Given the description of an element on the screen output the (x, y) to click on. 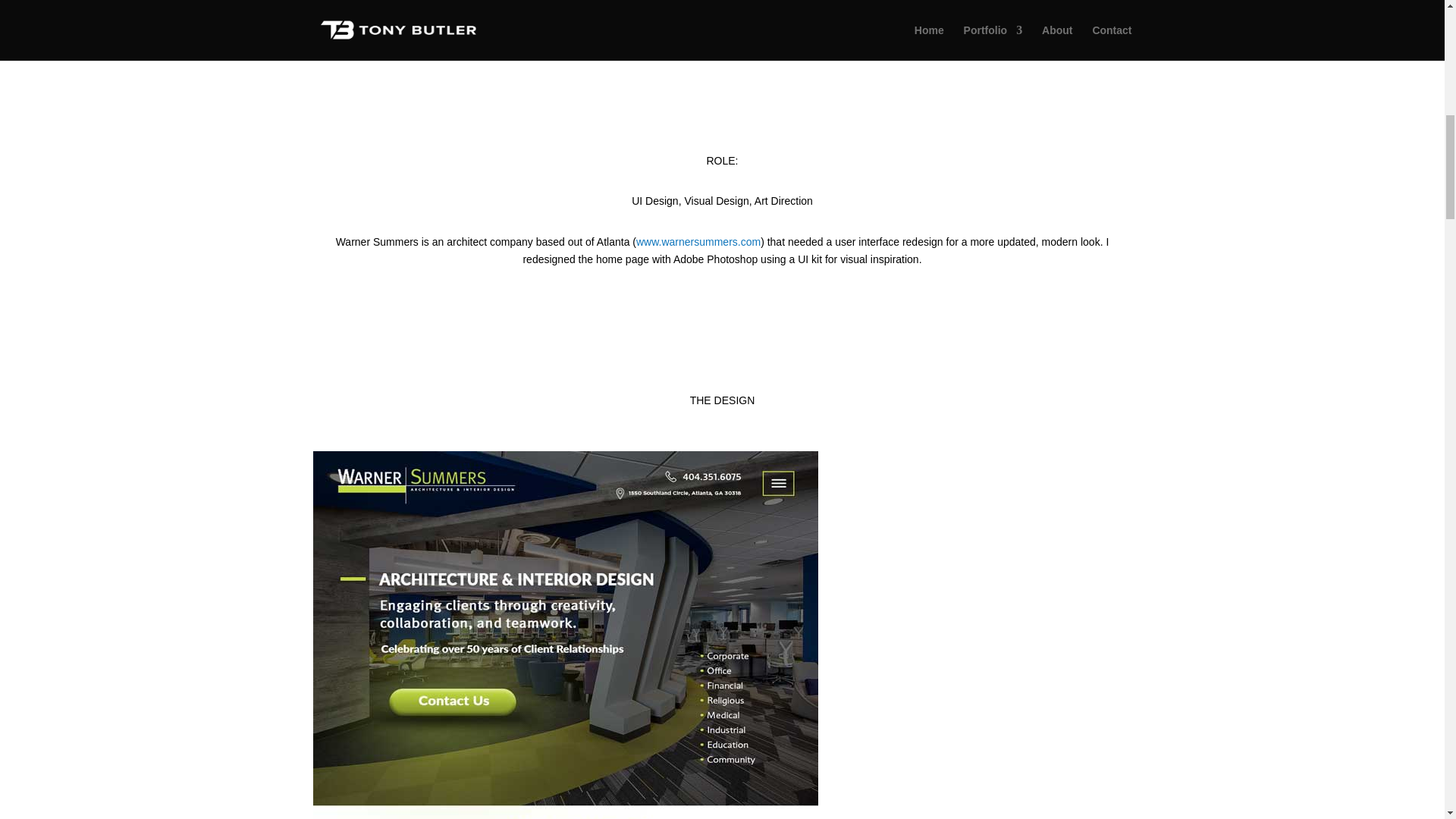
www.warnersummers.com (698, 241)
